Given the description of an element on the screen output the (x, y) to click on. 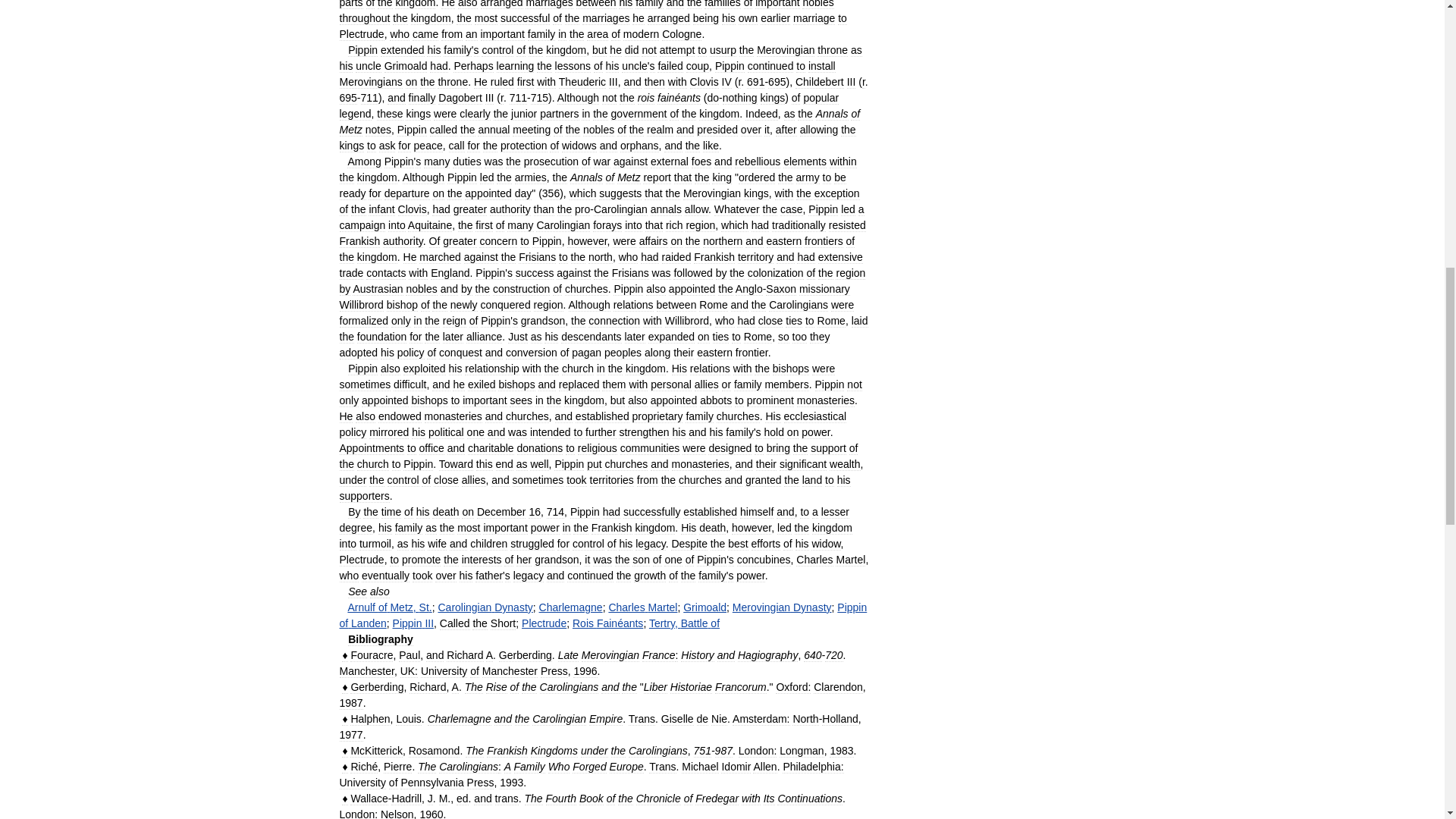
Carolingian Dynasty (485, 607)
Merovingian Dynasty (781, 607)
Tertry, Battle of (684, 623)
Pippin of Landen (603, 615)
Charlemagne (570, 607)
Grimoald (704, 607)
Plectrude (543, 623)
Pippin III (413, 623)
Arnulf of Metz, St. (388, 607)
Charles Martel (642, 607)
